Given the description of an element on the screen output the (x, y) to click on. 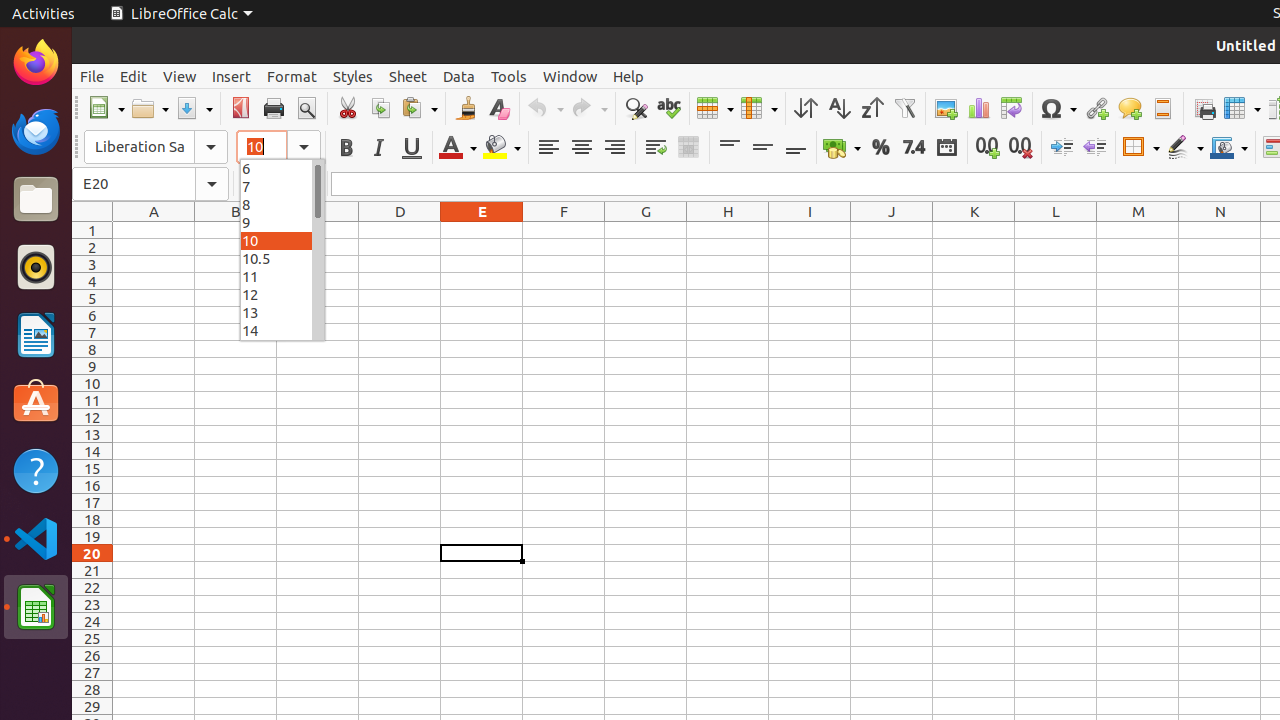
Window Element type: menu (570, 76)
Sort Ascending Element type: push-button (838, 108)
Border Color Element type: push-button (1229, 147)
Open Element type: push-button (150, 108)
14 Element type: list-item (282, 330)
